Given the description of an element on the screen output the (x, y) to click on. 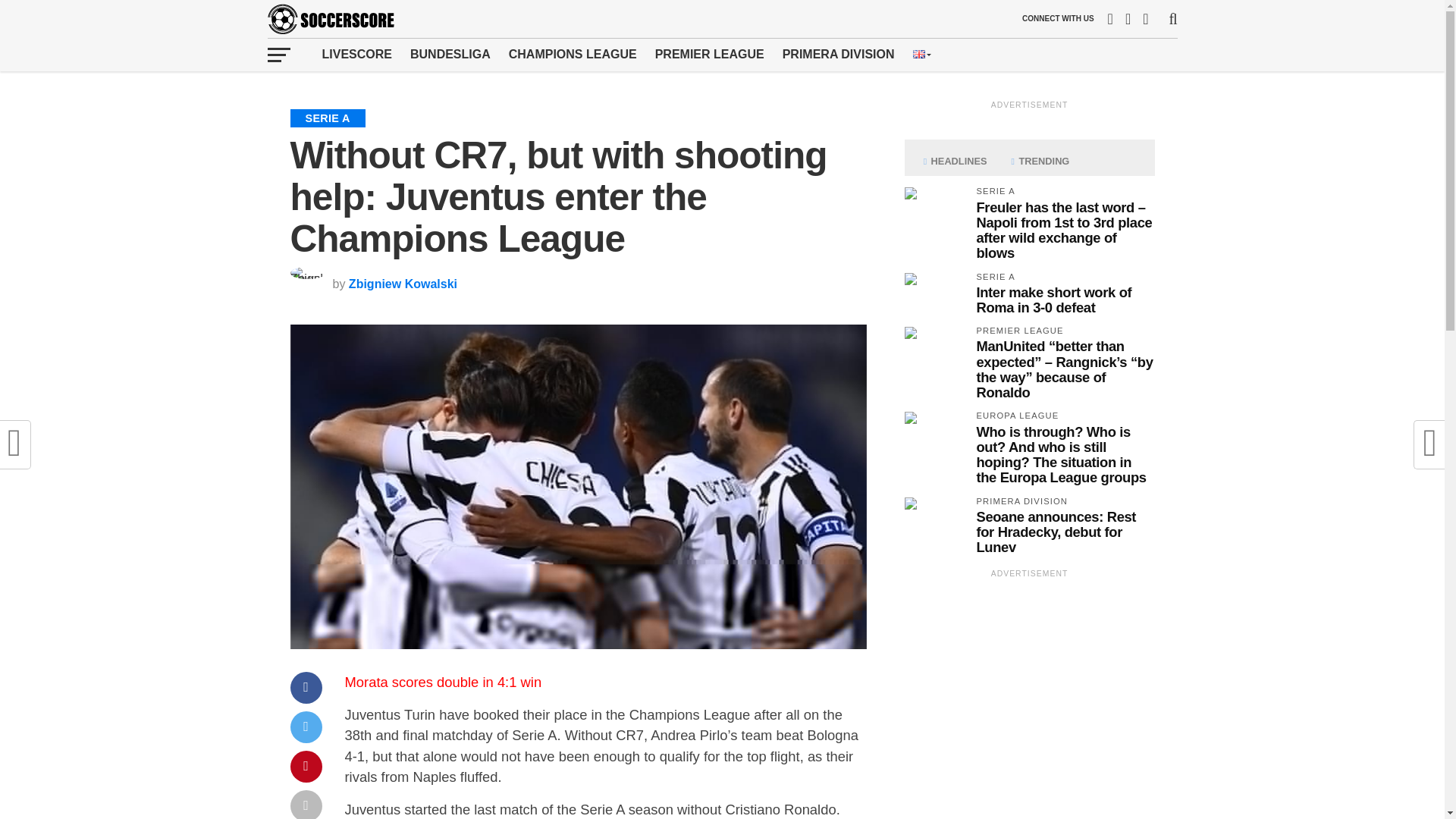
Zbigniew Kowalski (403, 283)
Posts by Zbigniew Kowalski (403, 283)
CHAMPIONS LEAGUE (572, 54)
PREMIER LEAGUE (709, 54)
English (918, 53)
HEADLINES (954, 161)
LIVESCORE (356, 54)
BUNDESLIGA (450, 54)
PRIMERA DIVISION (838, 54)
